Given the description of an element on the screen output the (x, y) to click on. 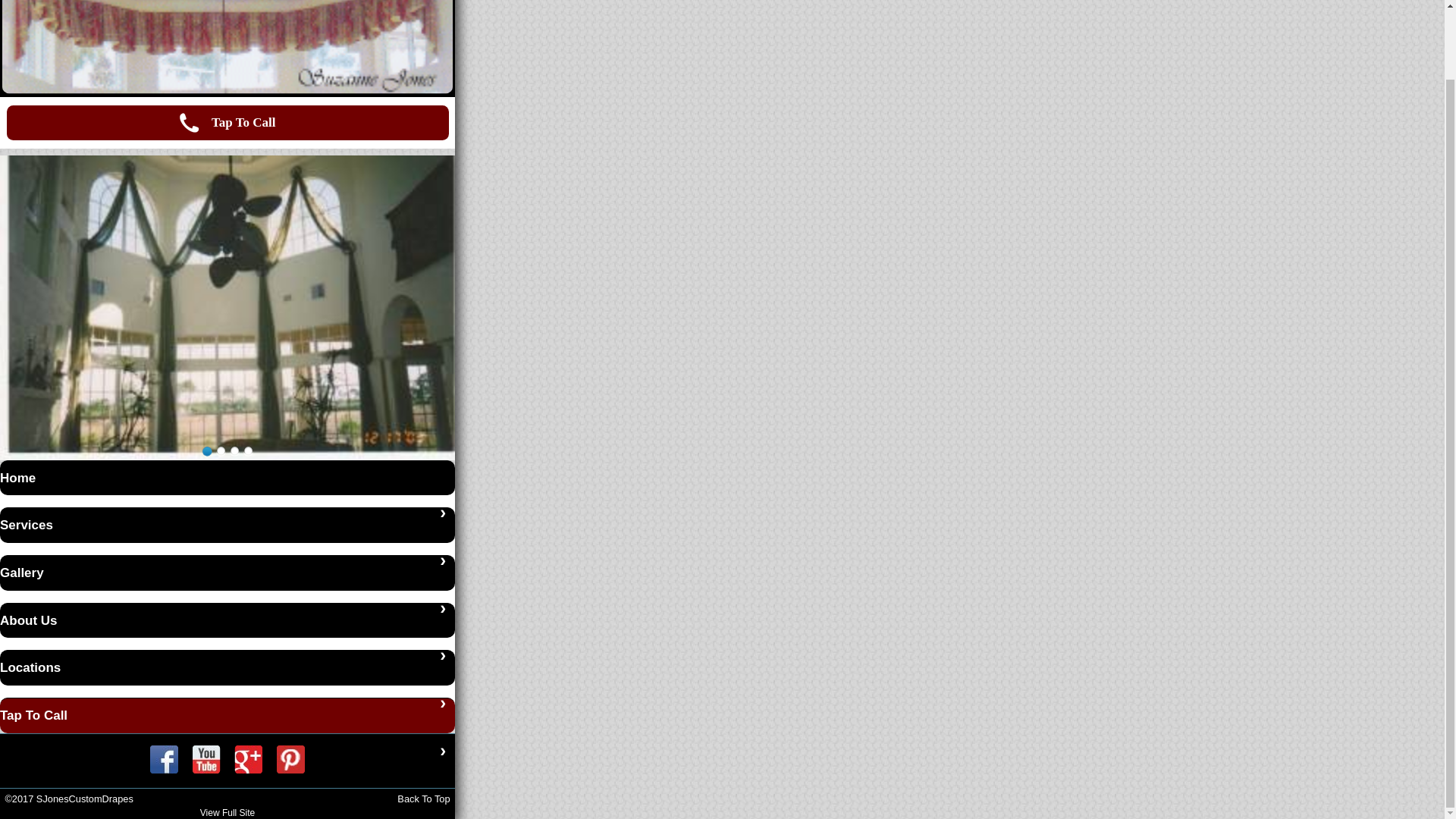
4 (247, 451)
Tap To Call (226, 122)
3 (233, 451)
View Full Site (227, 812)
1 (206, 451)
2 (220, 451)
Back To Top (423, 798)
